Given the description of an element on the screen output the (x, y) to click on. 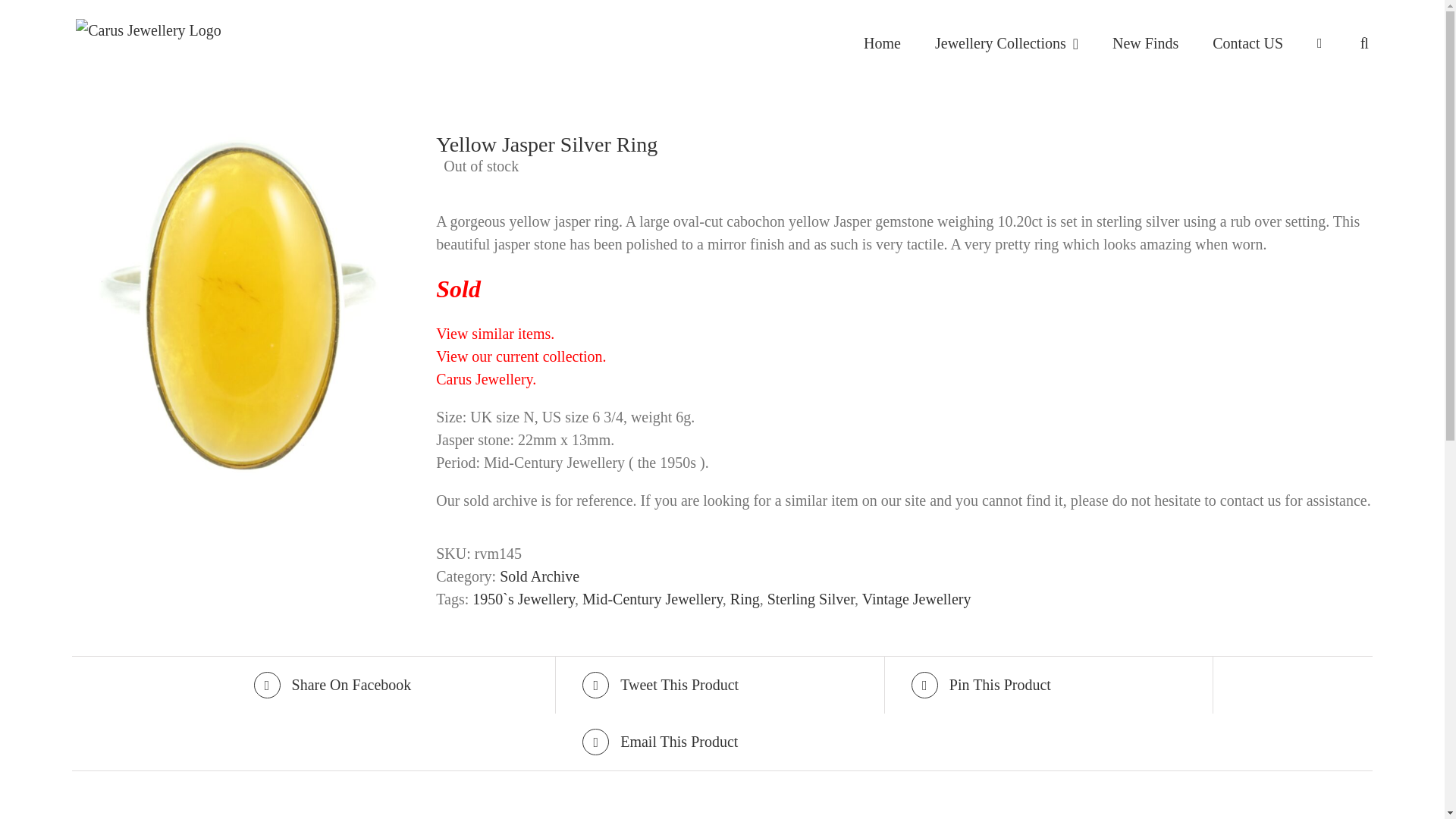
Contact US (1247, 43)
New Finds (1144, 43)
Yellow jasper Silver ring - 563 (242, 304)
Jewellery Collections (1006, 43)
